Given the description of an element on the screen output the (x, y) to click on. 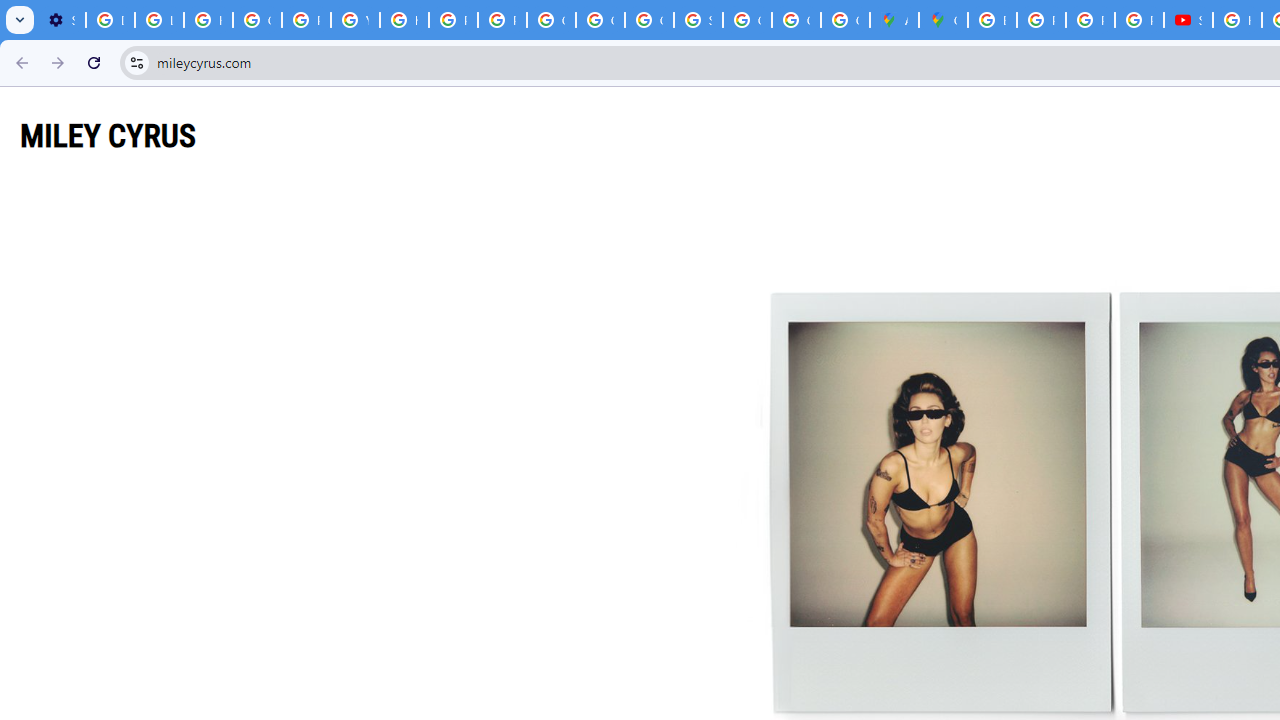
How Chrome protects your passwords - Google Chrome Help (1237, 20)
Privacy Help Center - Policies Help (1041, 20)
Privacy Help Center - Policies Help (1090, 20)
Blogger Policies and Guidelines - Transparency Center (992, 20)
Google Maps (943, 20)
MILEY CYRUS (107, 135)
Delete photos & videos - Computer - Google Photos Help (109, 20)
